Given the description of an element on the screen output the (x, y) to click on. 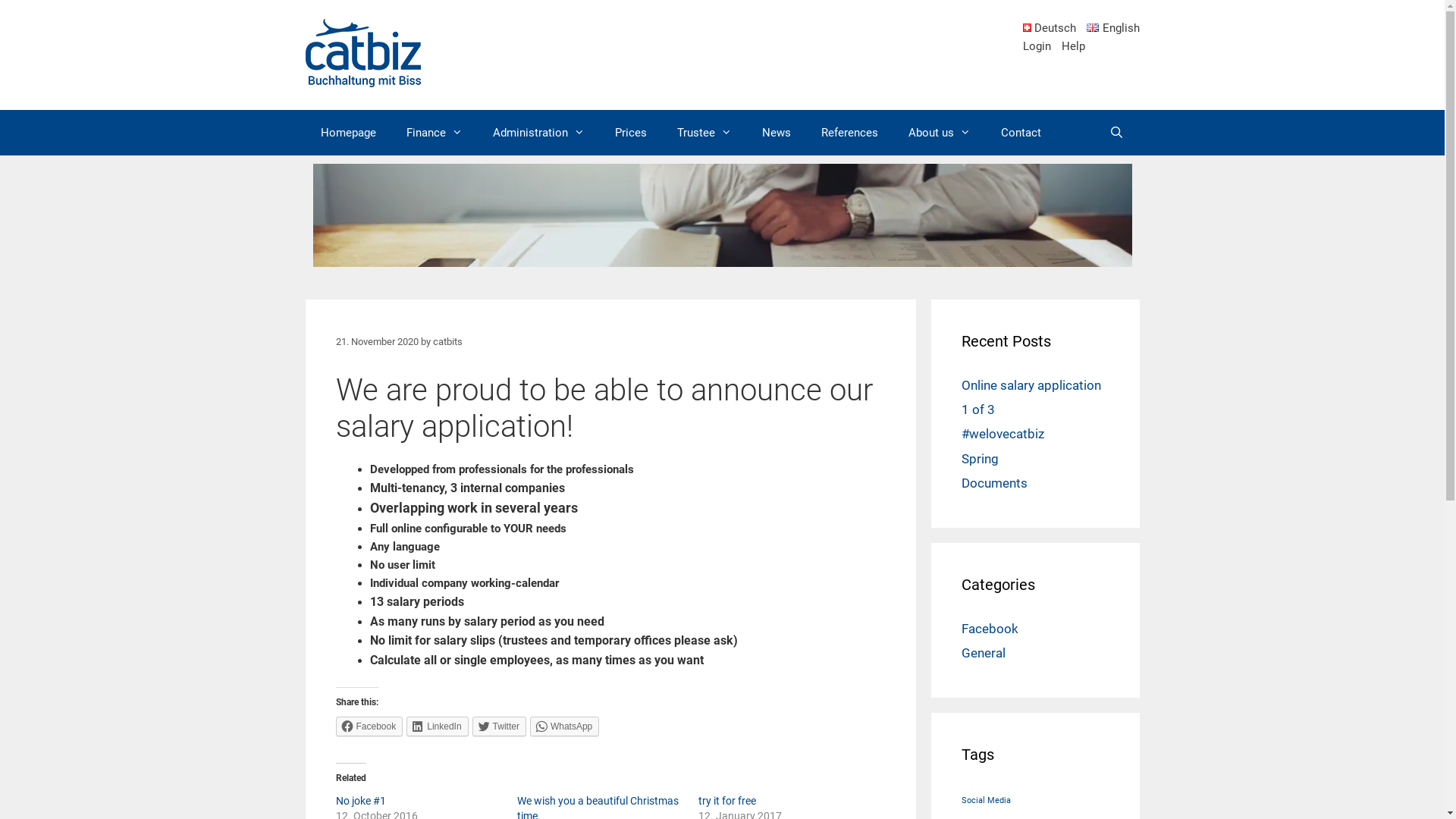
Administration Element type: text (538, 132)
Deutsch Element type: text (1049, 27)
Facebook Element type: text (368, 726)
Contact Element type: text (1020, 132)
try it for free Element type: text (727, 800)
LinkedIn Element type: text (436, 726)
Help Element type: text (1073, 46)
Finance Element type: text (434, 132)
English Element type: text (1112, 27)
Facebook Element type: text (989, 628)
References Element type: text (848, 132)
Online salary application Element type: text (1031, 384)
1 of 3 Element type: text (977, 409)
Trustee Element type: text (703, 132)
catbits Element type: text (446, 341)
About us Element type: text (939, 132)
Documents Element type: text (994, 482)
WhatsApp Element type: text (564, 726)
General Element type: text (983, 652)
Prices Element type: text (630, 132)
#welovecatbiz Element type: text (1002, 433)
Homepage Element type: text (347, 132)
Social Media Element type: text (985, 800)
Spring Element type: text (979, 458)
Twitter Element type: text (499, 726)
News Element type: text (775, 132)
Login Element type: text (1036, 46)
No joke #1 Element type: text (360, 800)
